Given the description of an element on the screen output the (x, y) to click on. 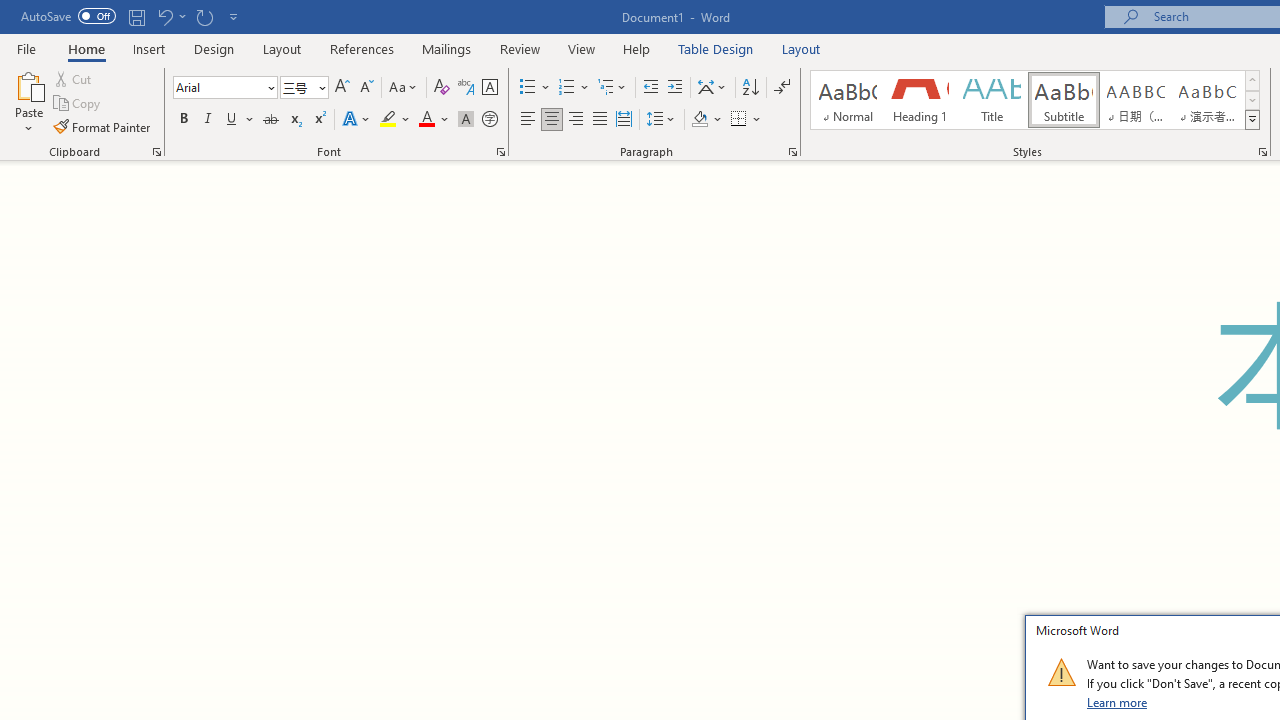
Learn more (1118, 702)
